Given the description of an element on the screen output the (x, y) to click on. 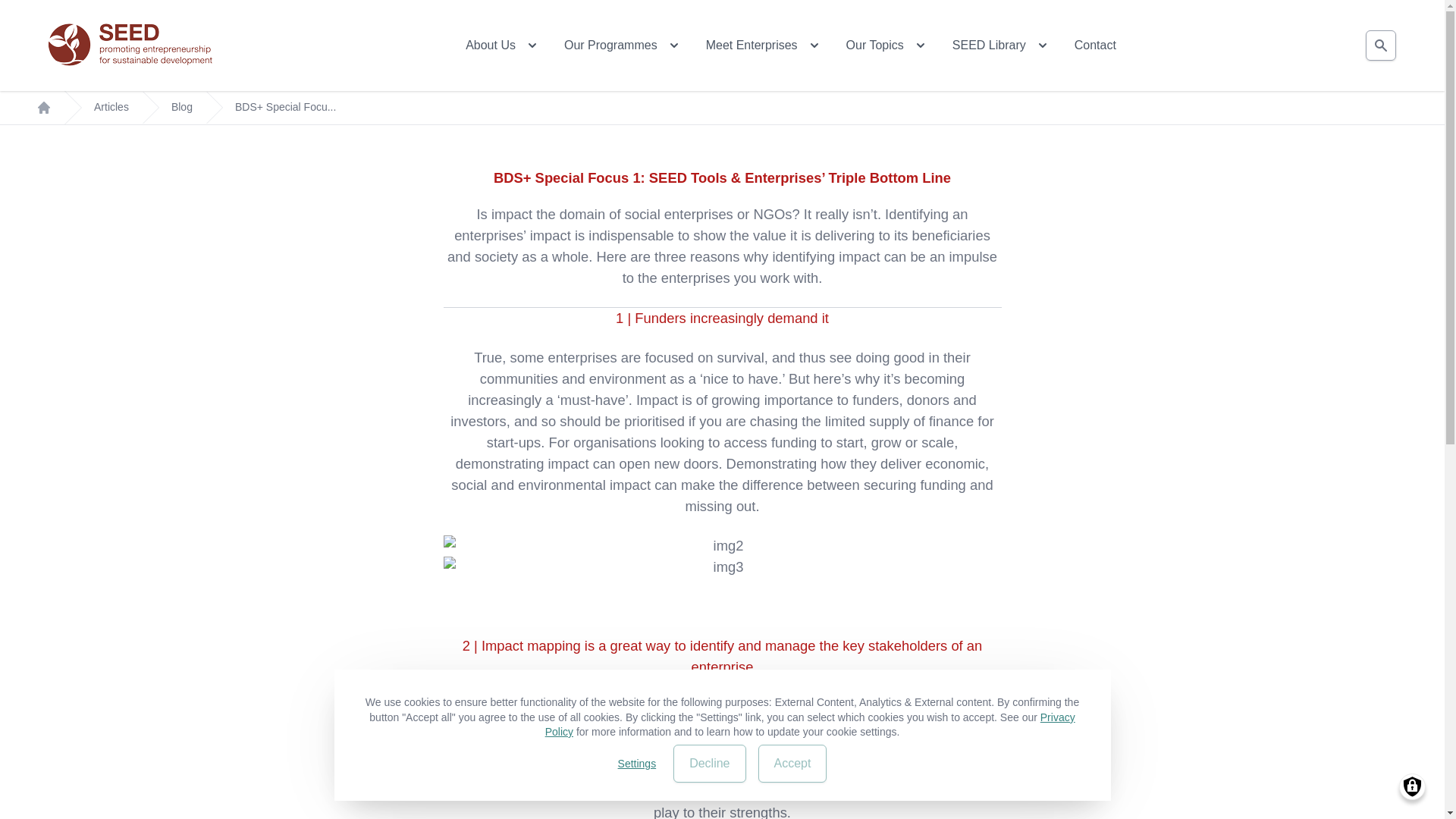
Meet Enterprises (764, 45)
About Us (502, 45)
Home (131, 45)
Our Topics (886, 45)
Our Programmes (622, 45)
